Given the description of an element on the screen output the (x, y) to click on. 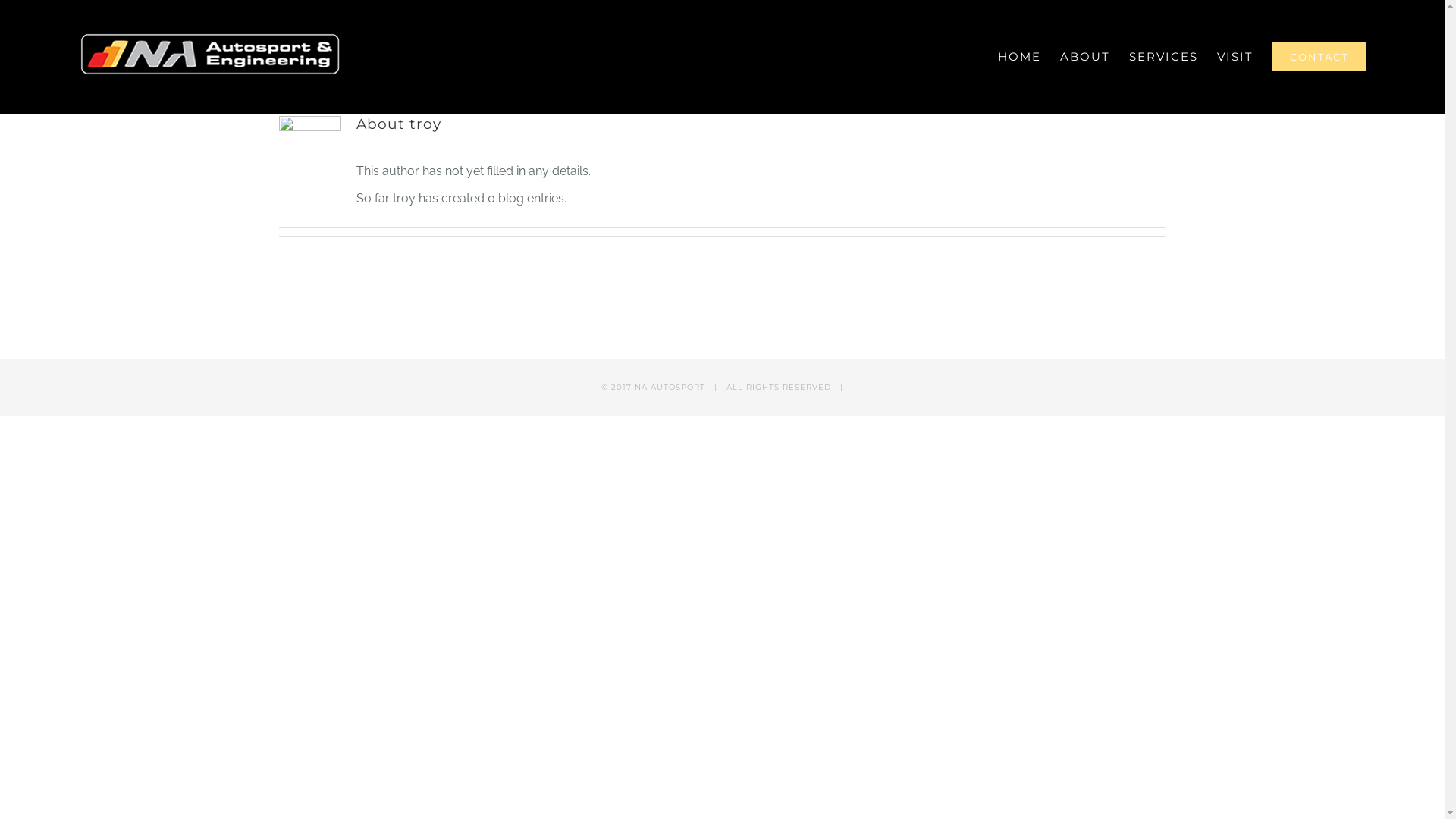
HOME Element type: text (1019, 56)
VISIT Element type: text (1235, 56)
CONTACT Element type: text (1318, 56)
SERVICES Element type: text (1163, 56)
ABOUT Element type: text (1085, 56)
